Given the description of an element on the screen output the (x, y) to click on. 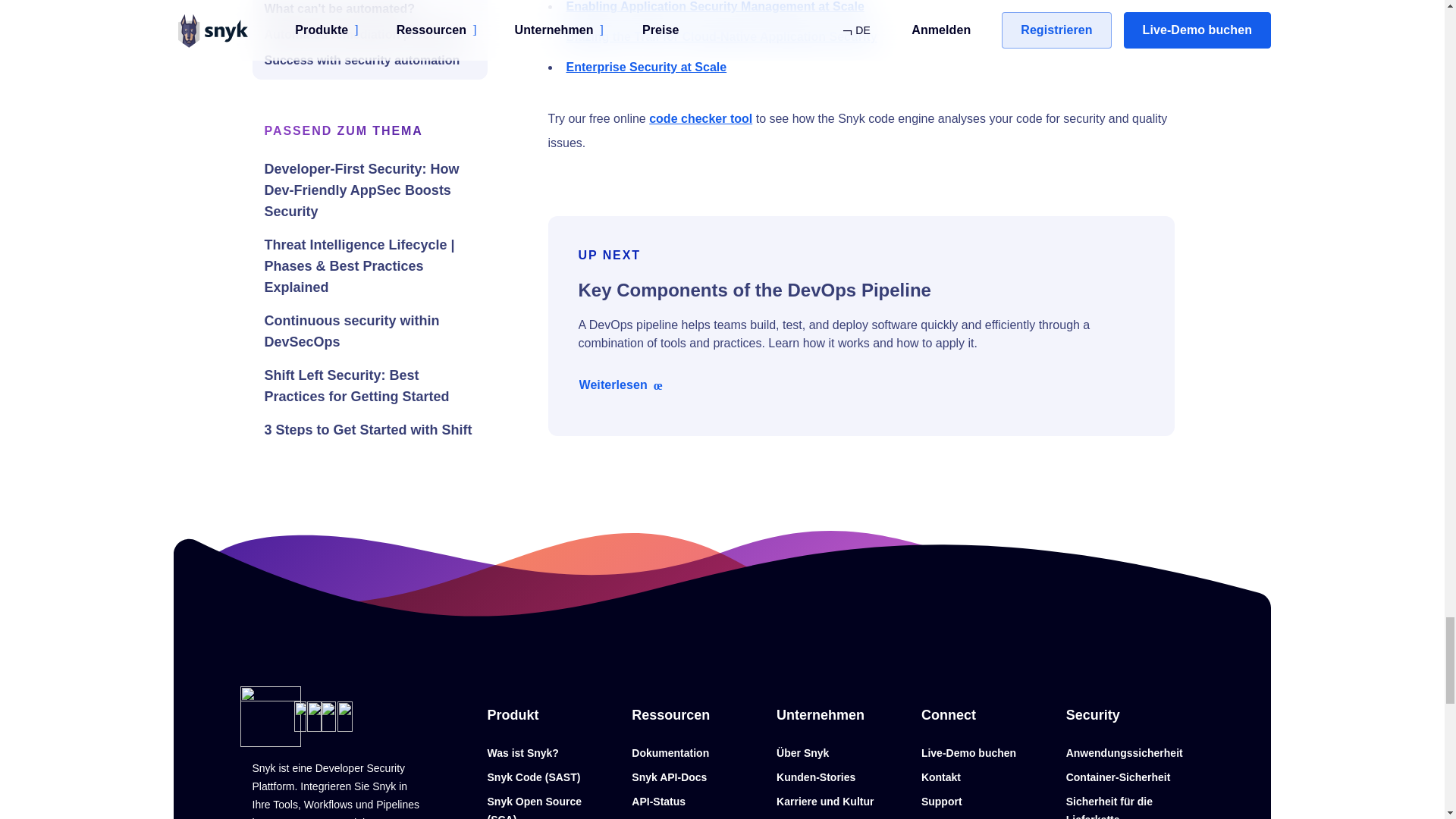
Weiterlesen (621, 384)
